Given the description of an element on the screen output the (x, y) to click on. 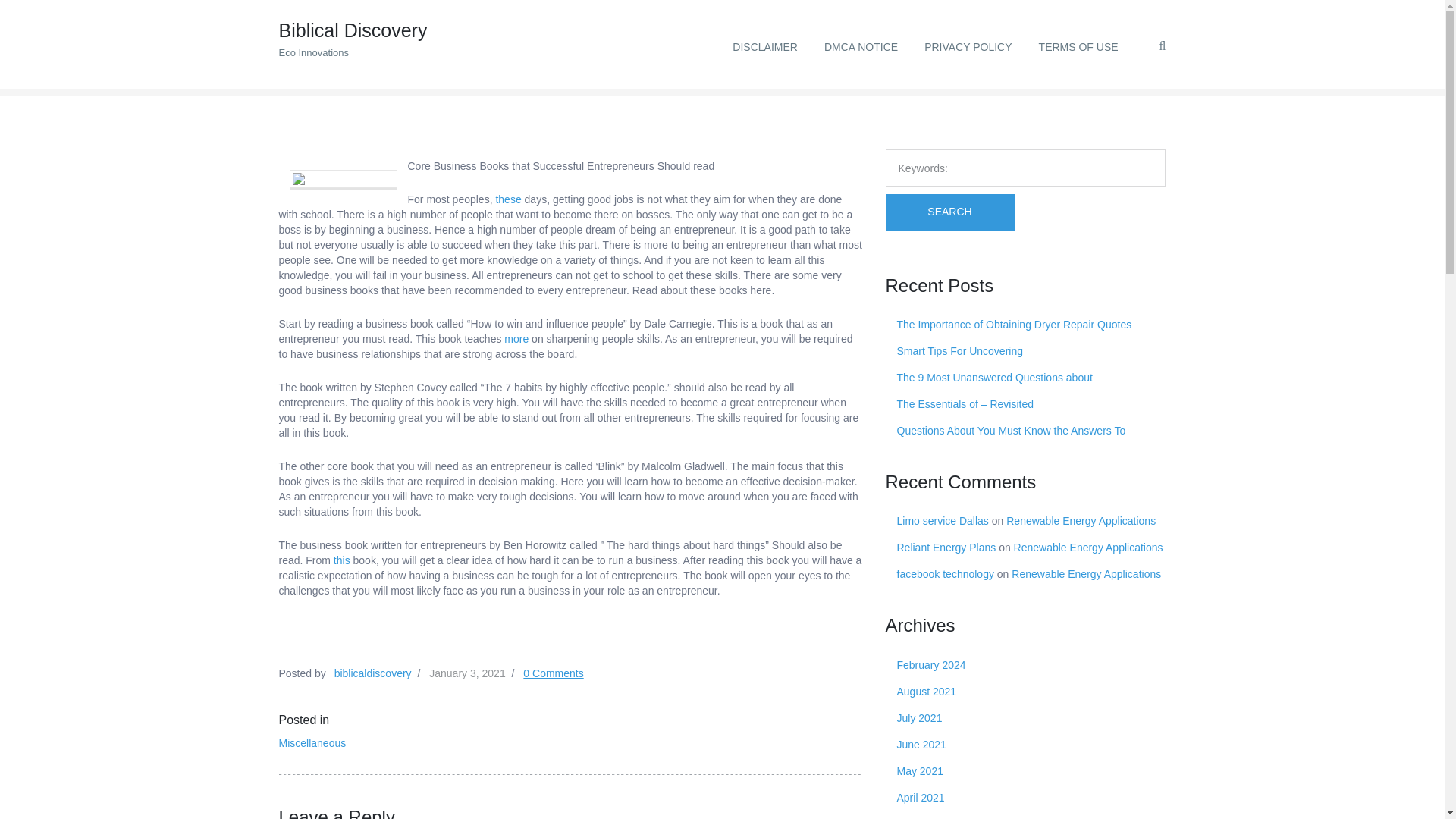
Limo service Dallas (942, 521)
0 Comments (552, 673)
Miscellaneous (312, 743)
Biblical Discovery (293, 64)
these (508, 199)
Smart Tips For Uncovering (959, 350)
Home (293, 64)
this (341, 560)
The Importance of Obtaining Dryer Repair Quotes (1013, 324)
Renewable Energy Applications (1088, 547)
